Given the description of an element on the screen output the (x, y) to click on. 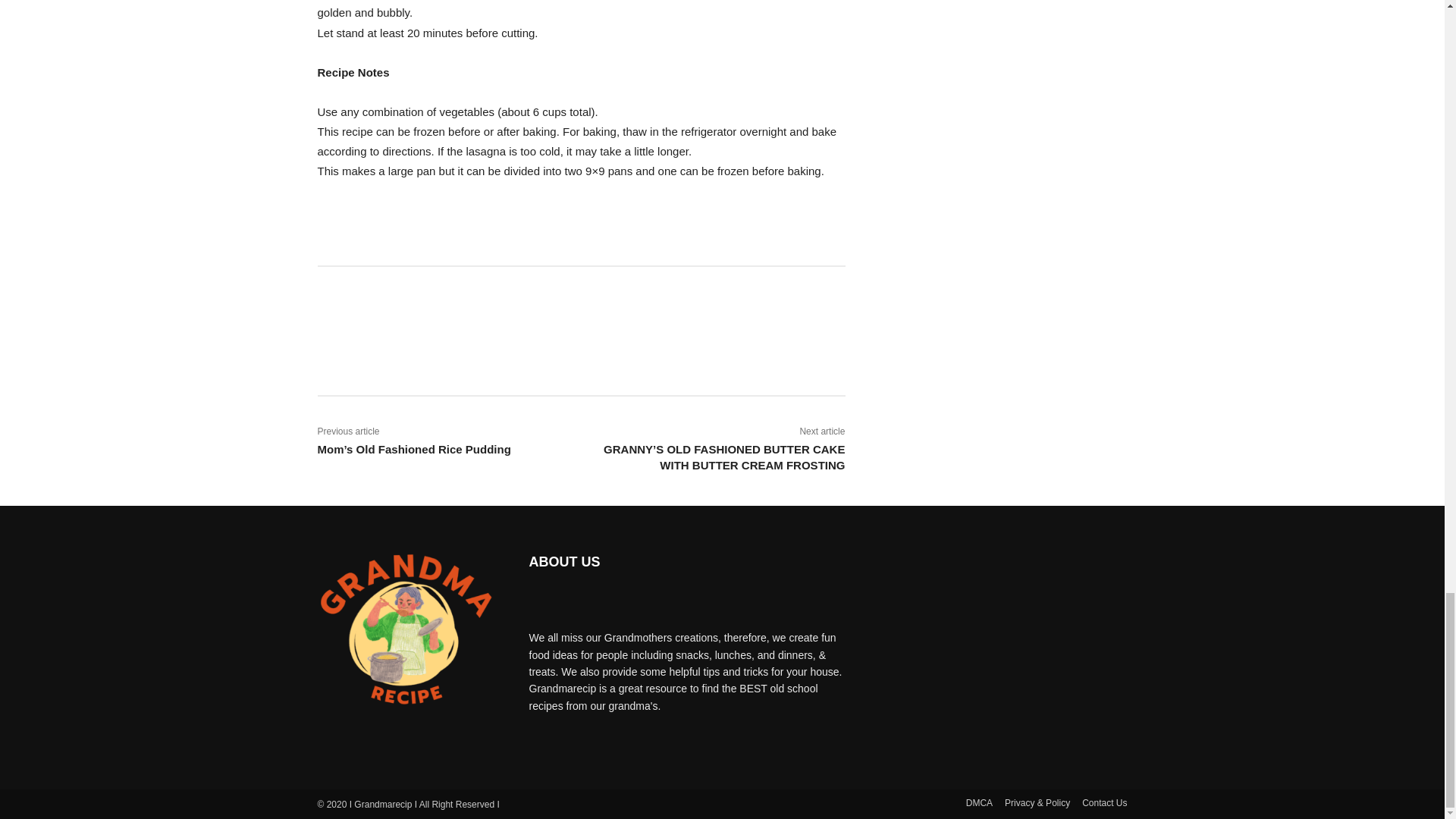
DMCA (979, 803)
